Given the description of an element on the screen output the (x, y) to click on. 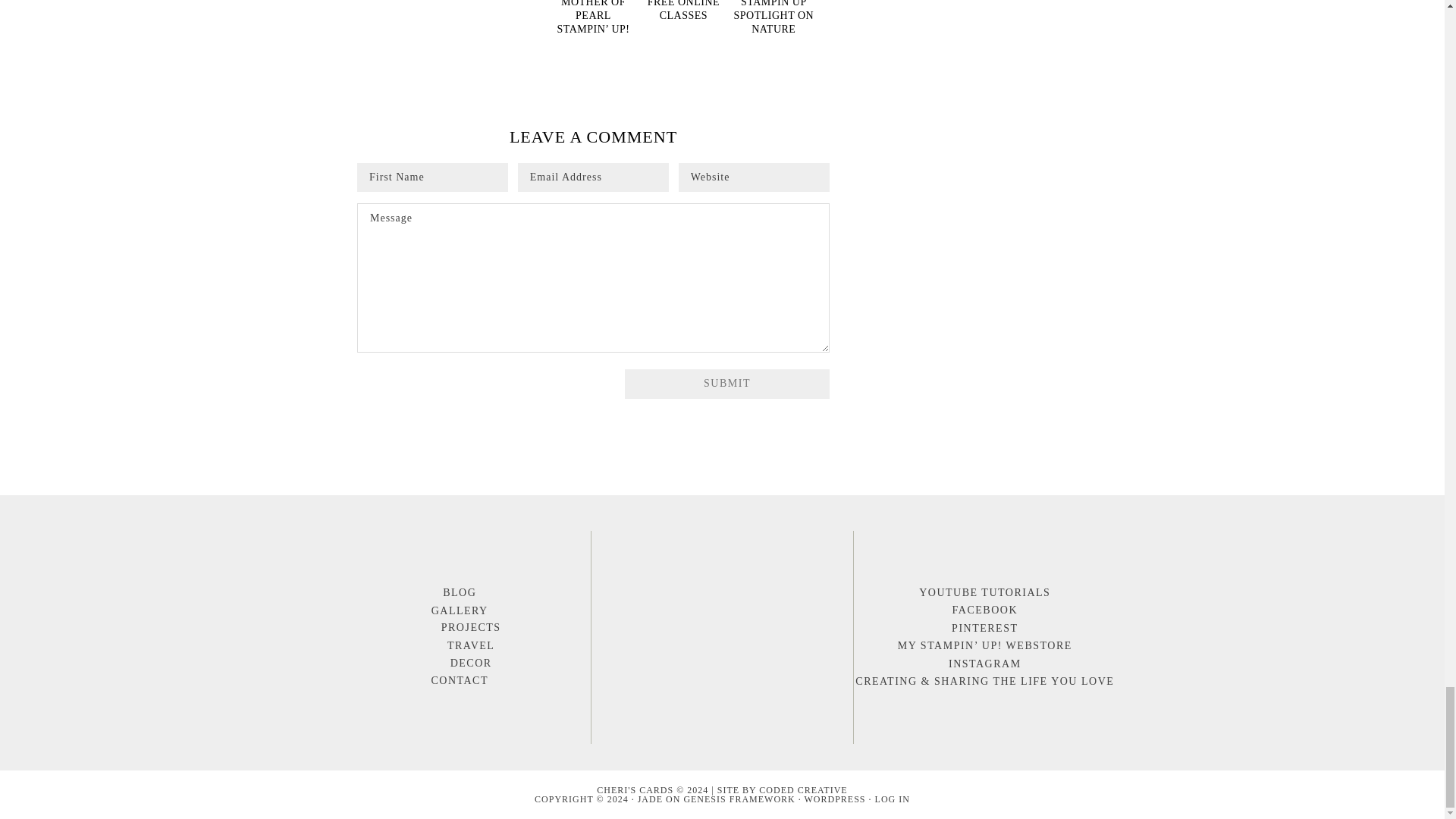
Submit (726, 383)
